Given the description of an element on the screen output the (x, y) to click on. 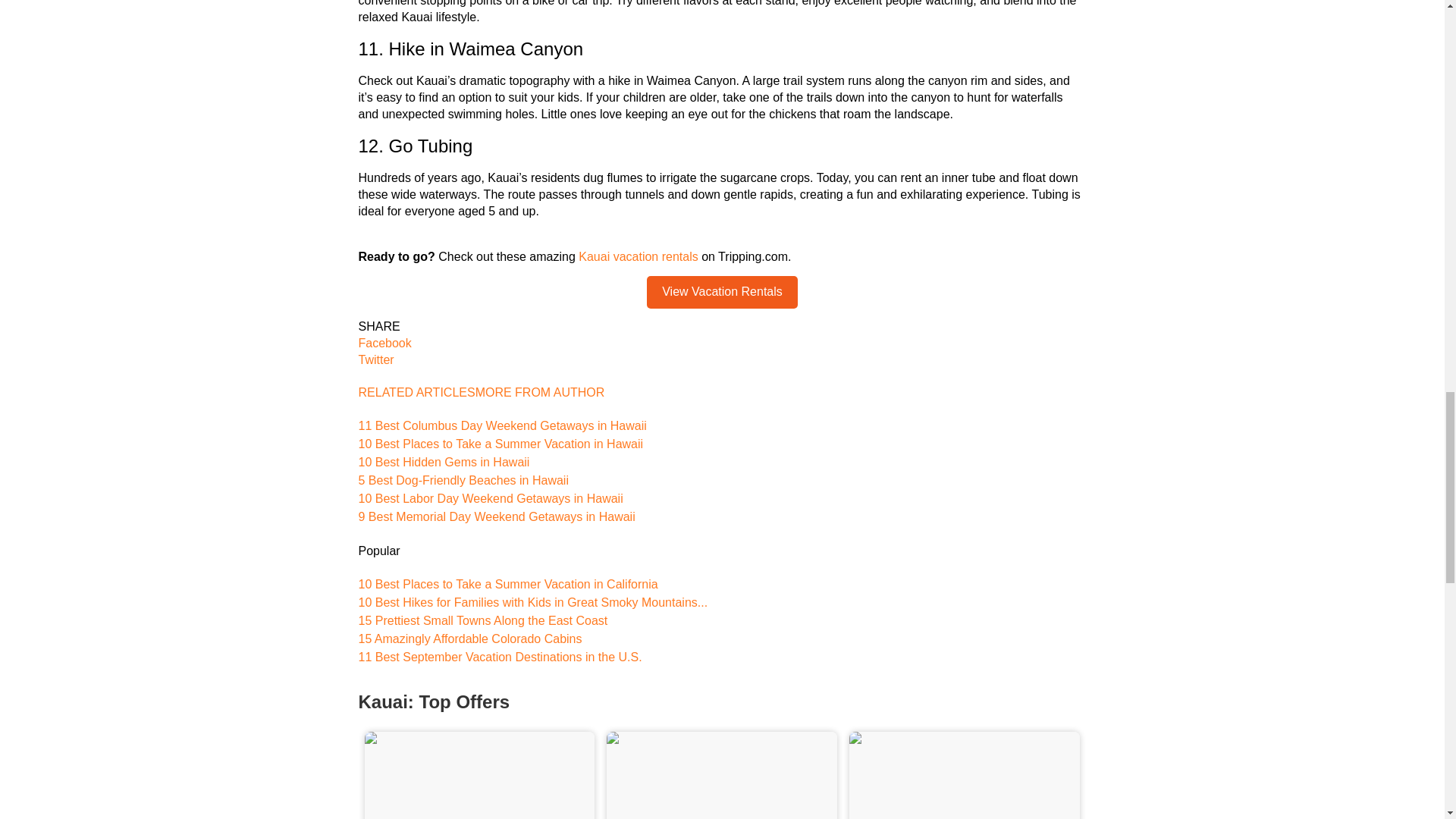
10 Best Places to Take a Summer Vacation in Hawaii (500, 443)
Facebook (722, 343)
9 Best Memorial Day Weekend Getaways in Hawaii (496, 516)
10 Best Places to Take a Summer Vacation in Hawaii (500, 443)
10 Best Labor Day Weekend Getaways in Hawaii (490, 498)
10 Best Hidden Gems in Hawaii (443, 461)
11 Best September Vacation Destinations in the U.S. (500, 656)
10 Best Labor Day Weekend Getaways in Hawaii (490, 498)
15 Amazingly Affordable Colorado Cabins (469, 638)
9 Best Memorial Day Weekend Getaways in Hawaii (496, 516)
